Given the description of an element on the screen output the (x, y) to click on. 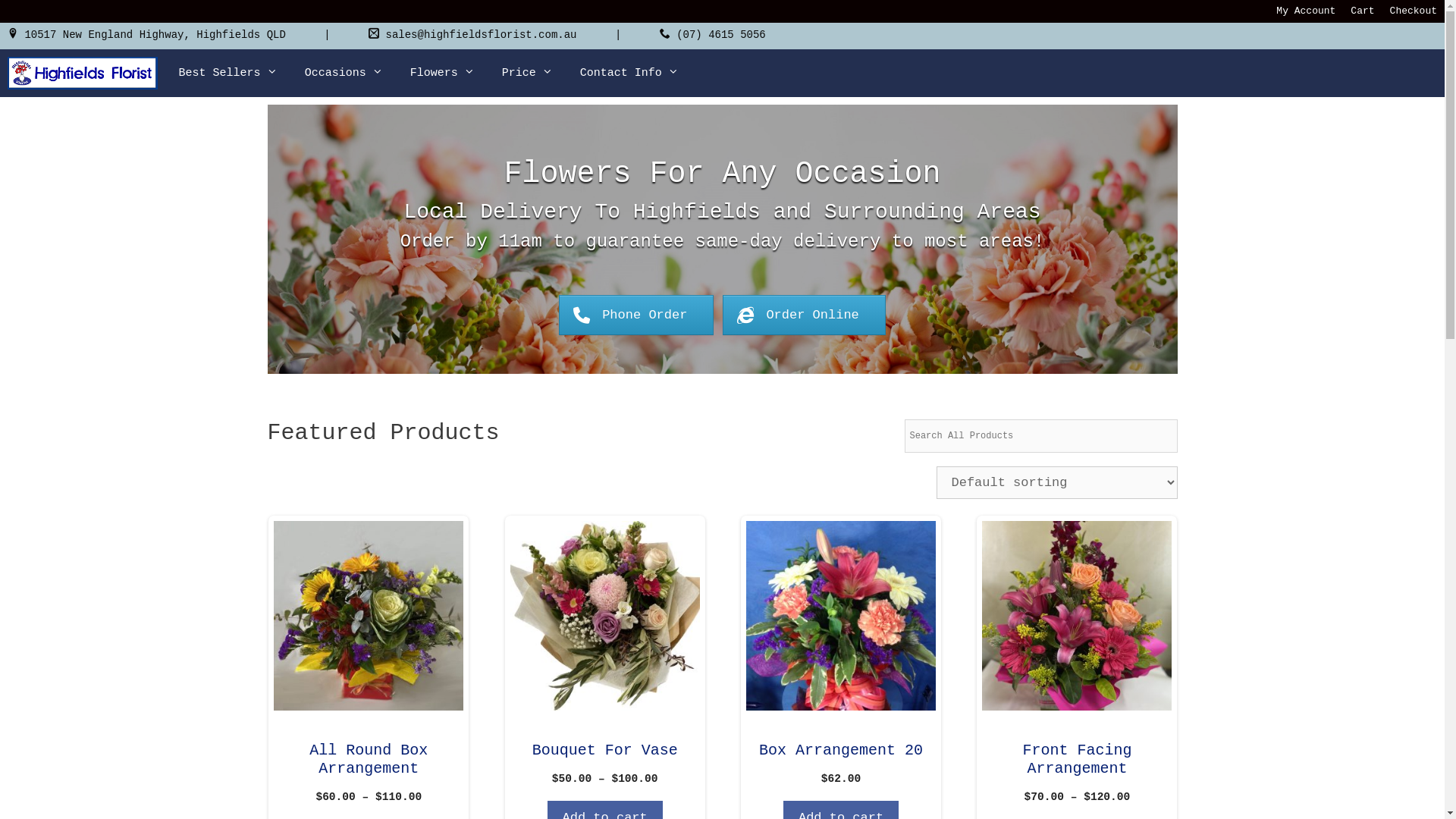
Cart Element type: text (1362, 10)
Price Element type: text (527, 72)
Highfields Florist Element type: hover (82, 72)
Flowers Element type: text (442, 72)
Order Online Element type: text (803, 314)
View your shopping cart Element type: hover (1426, 72)
Contact Info Element type: text (629, 72)
Occasions Element type: text (343, 72)
Phone Order Element type: text (635, 314)
Box Arrangement 20
$62.00 Element type: text (840, 653)
My Account Element type: text (1305, 10)
(07) 4615 5056 Element type: text (720, 34)
sales@highfieldsflorist.com.au Element type: text (480, 34)
Best Sellers Element type: text (228, 72)
Checkout Element type: text (1413, 10)
